Given the description of an element on the screen output the (x, y) to click on. 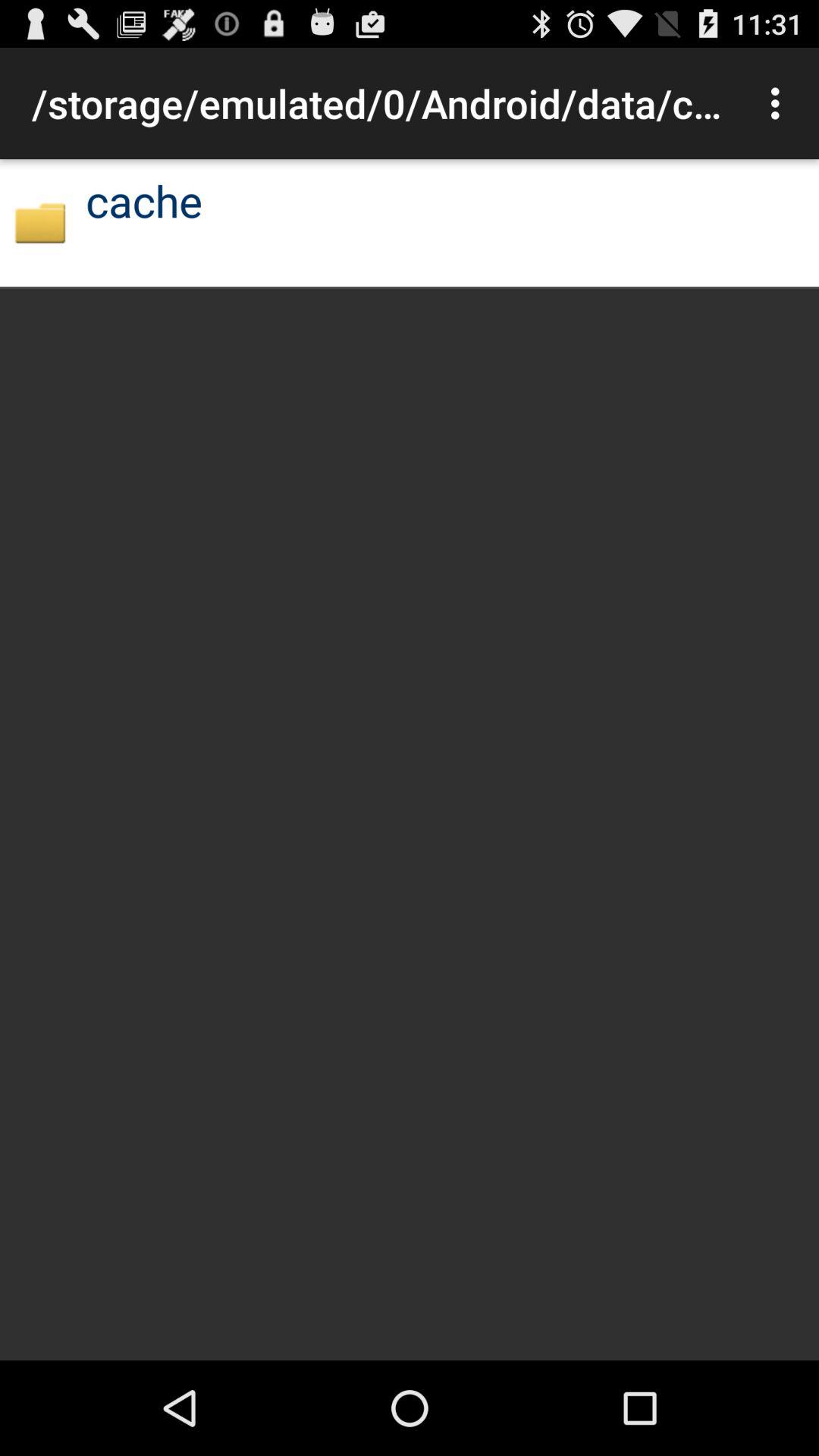
press item to the left of the cache app (39, 222)
